Given the description of an element on the screen output the (x, y) to click on. 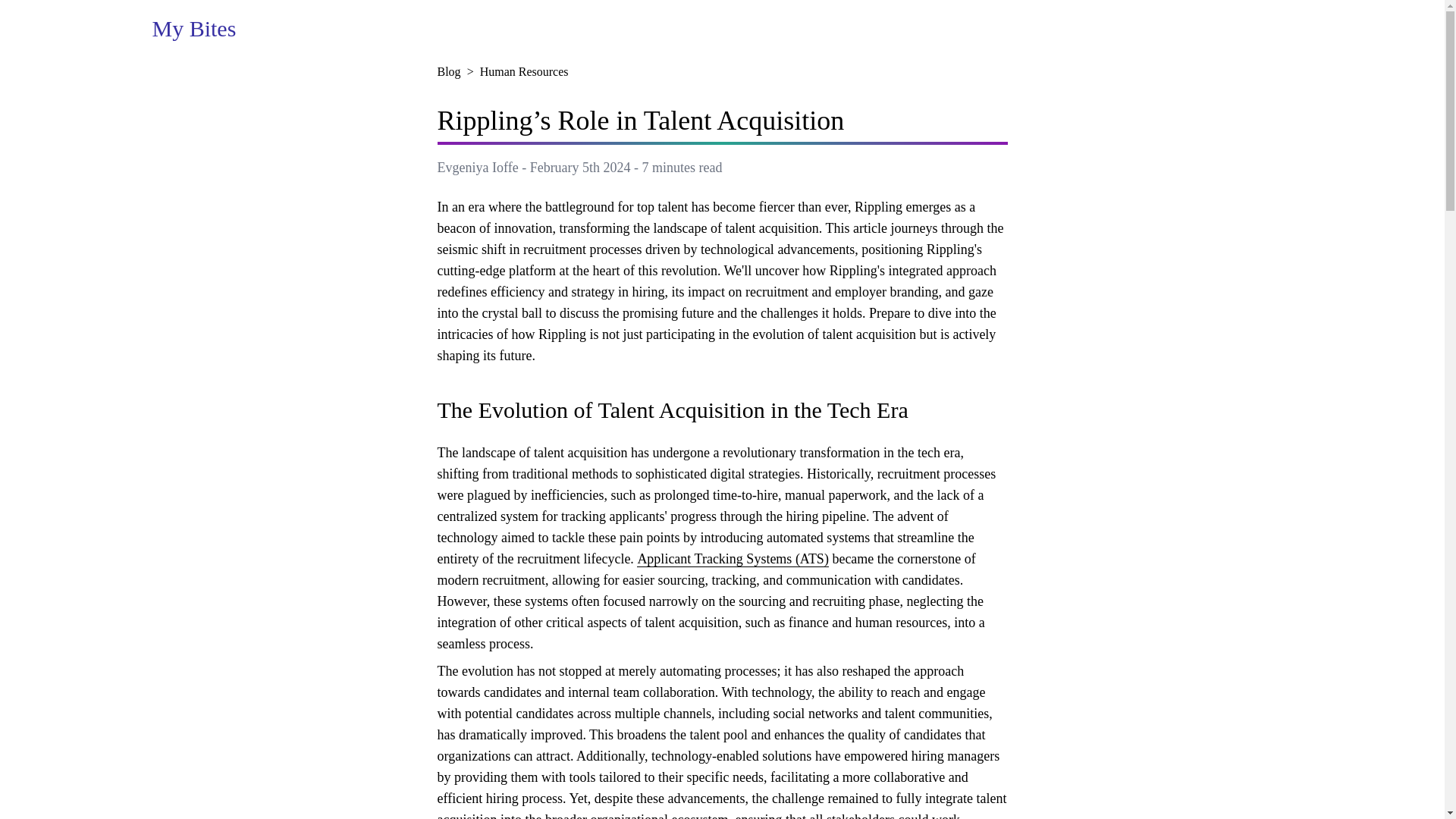
My Bites (193, 28)
Human Resources (524, 72)
Blog (448, 72)
